Given the description of an element on the screen output the (x, y) to click on. 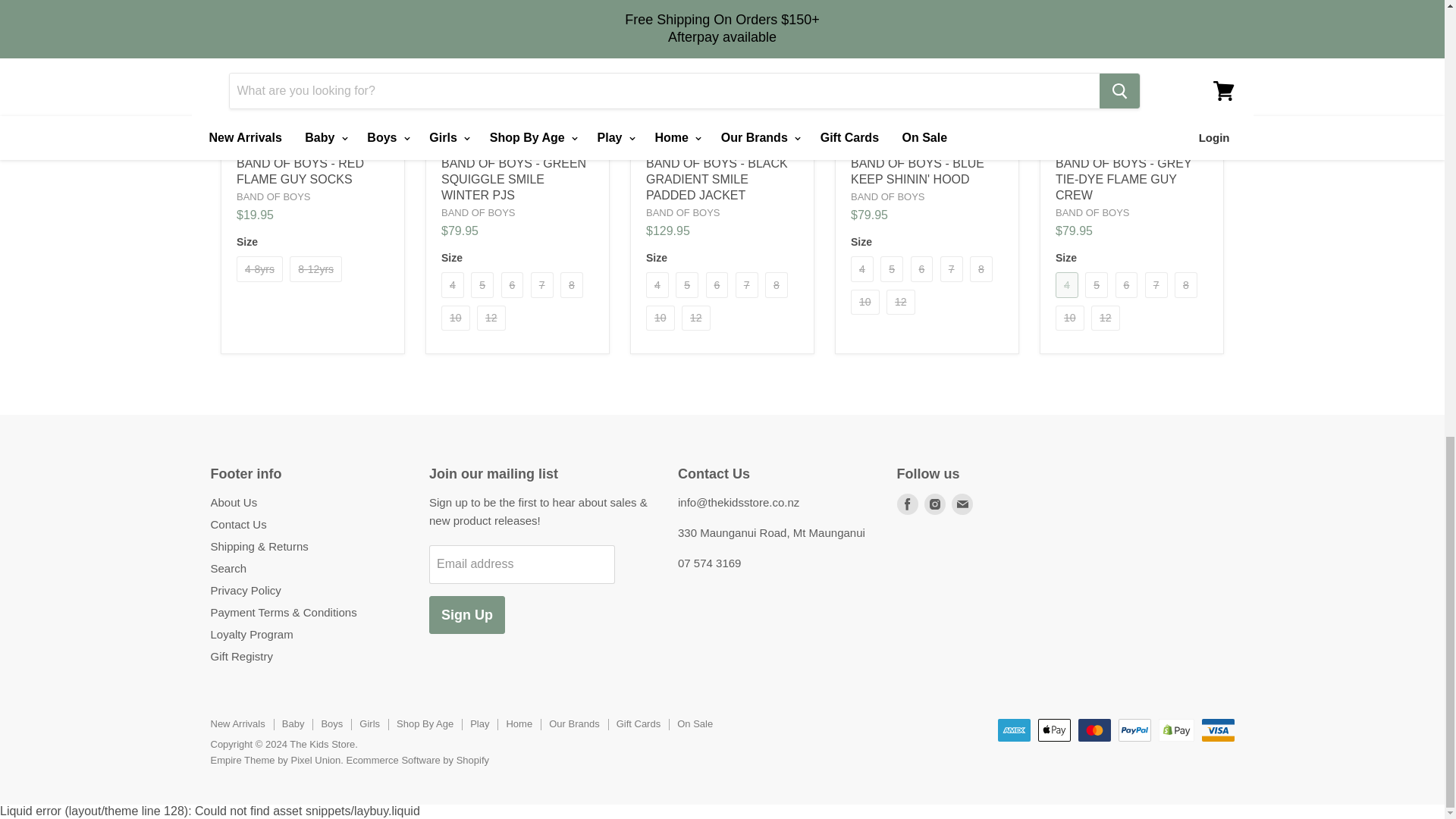
Facebook (906, 503)
Instagram (933, 503)
E-mail (961, 503)
